Given the description of an element on the screen output the (x, y) to click on. 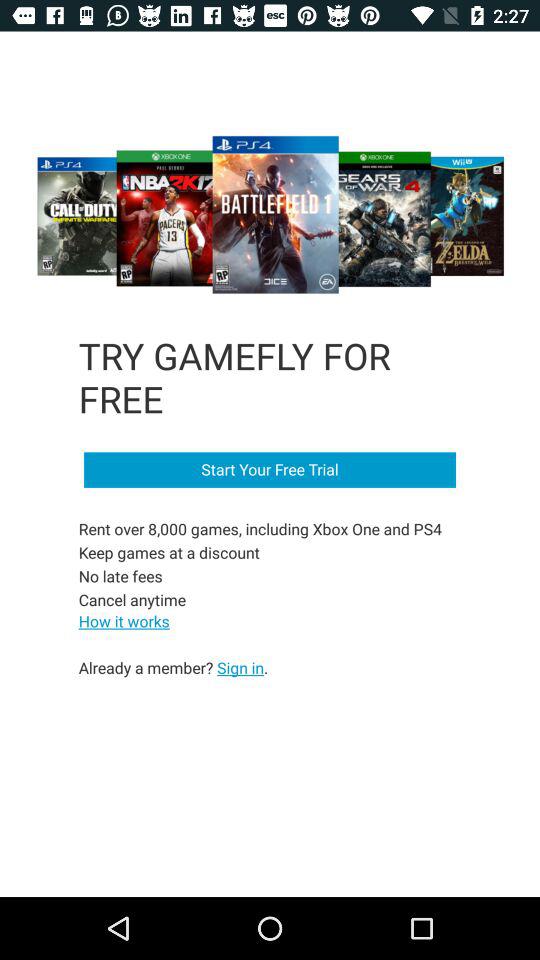
choose the already a member icon (173, 667)
